Given the description of an element on the screen output the (x, y) to click on. 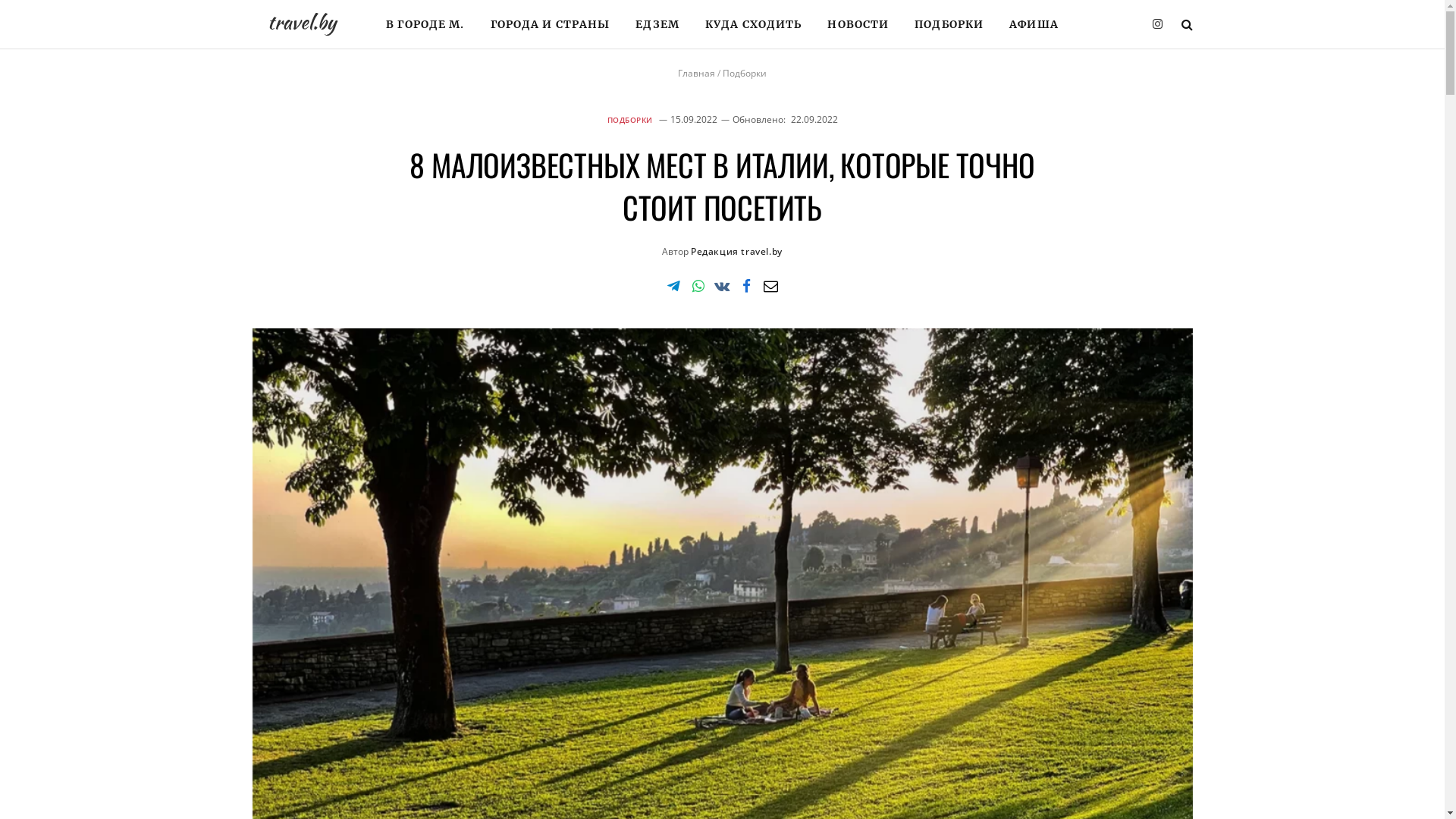
Travel.by Element type: hover (302, 24)
Search Element type: hover (1185, 24)
Instagram Element type: text (1157, 24)
